Given the description of an element on the screen output the (x, y) to click on. 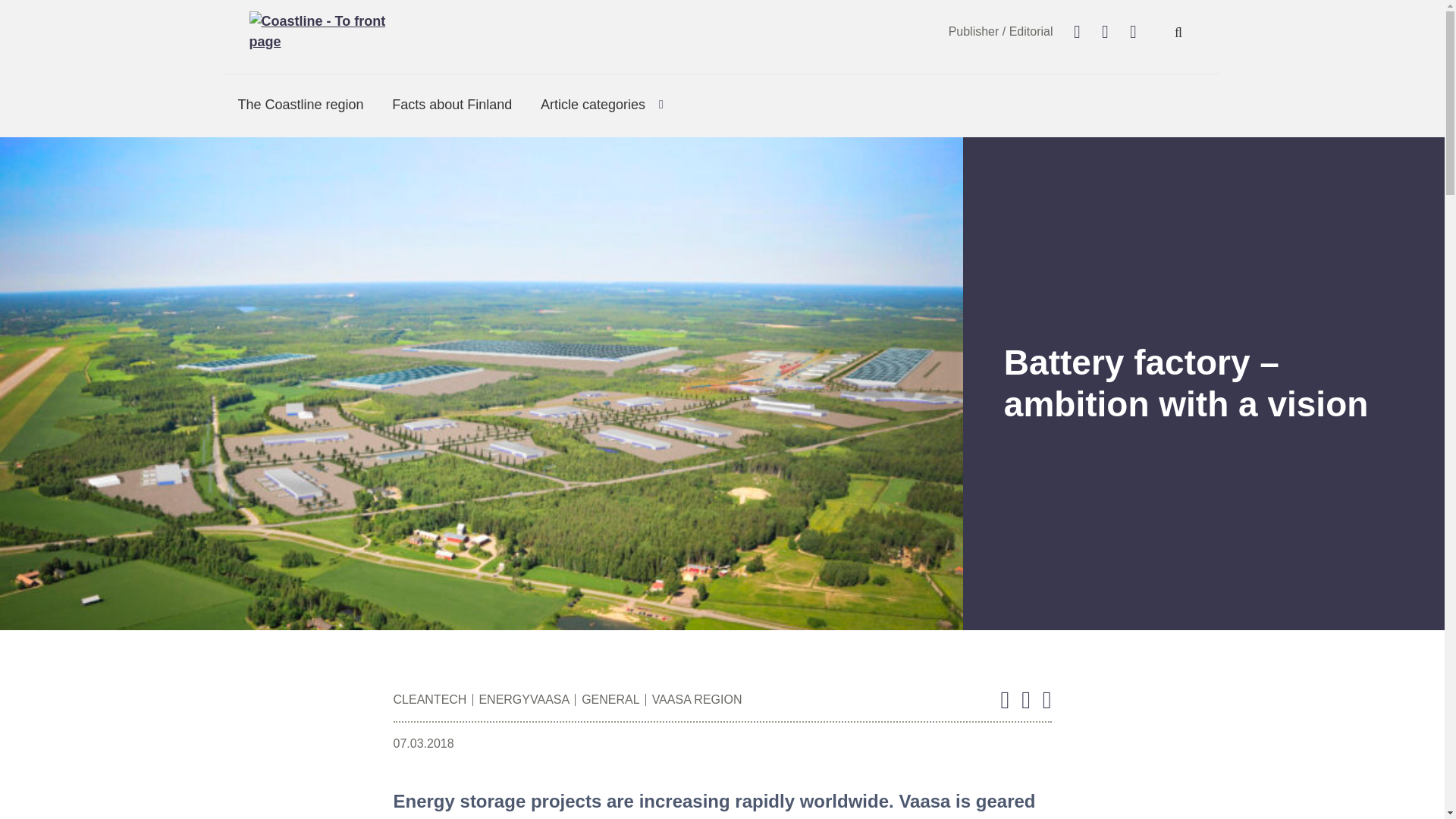
Editorial (1030, 31)
Facts about Finland (451, 104)
facebook (1076, 31)
Article categories (589, 104)
linkedin (1132, 31)
Publisher (973, 31)
ENERGYVAASA (517, 700)
CLEANTECH (429, 700)
The Coastline region (299, 104)
twitter (1105, 31)
